Given the description of an element on the screen output the (x, y) to click on. 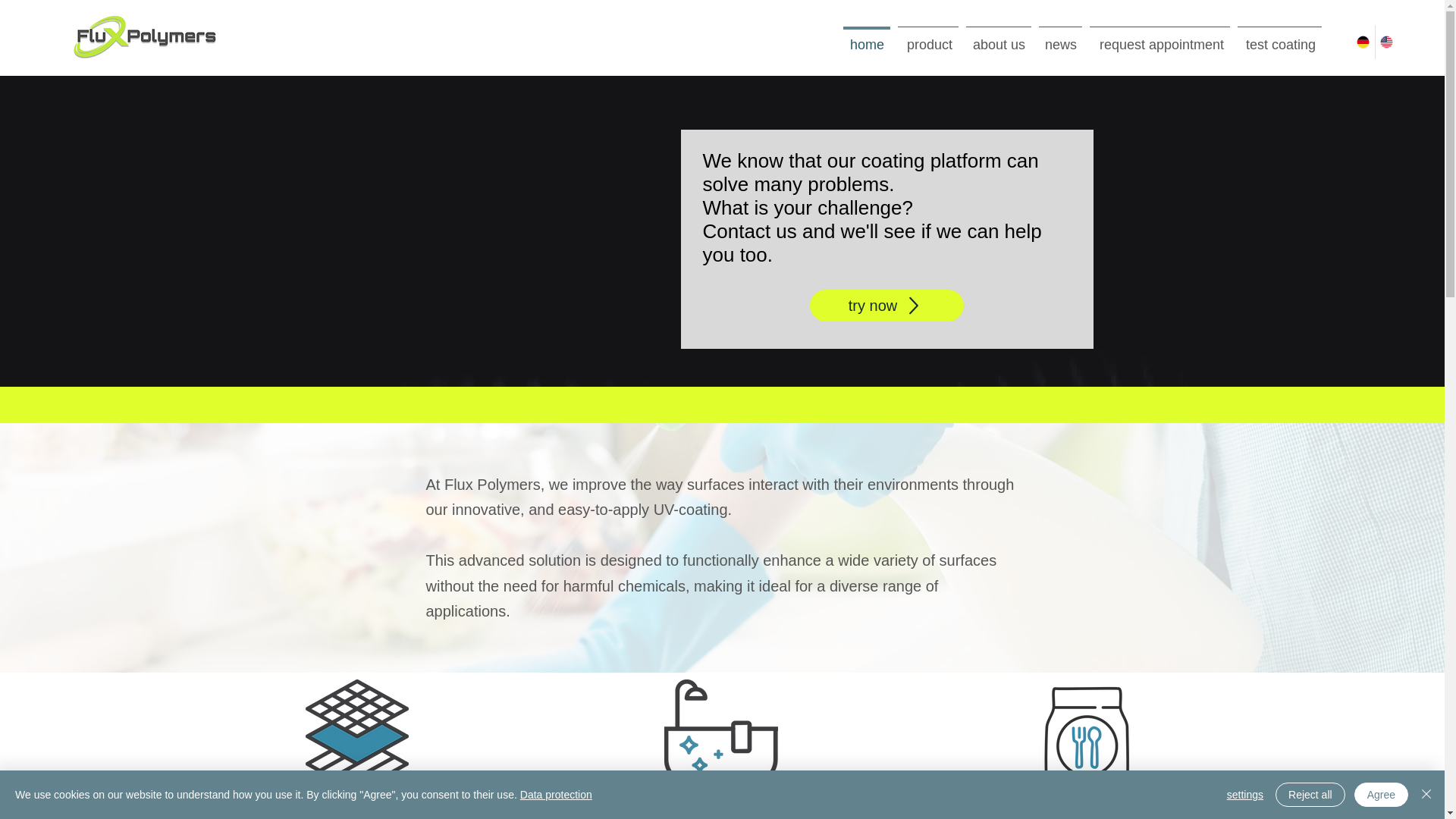
Data protection (555, 794)
Agree (1380, 794)
try now (886, 305)
Reject all (1310, 794)
test coating (1278, 37)
news (1060, 37)
home (866, 37)
product (927, 37)
request appointment (1159, 37)
about us (998, 37)
